Given the description of an element on the screen output the (x, y) to click on. 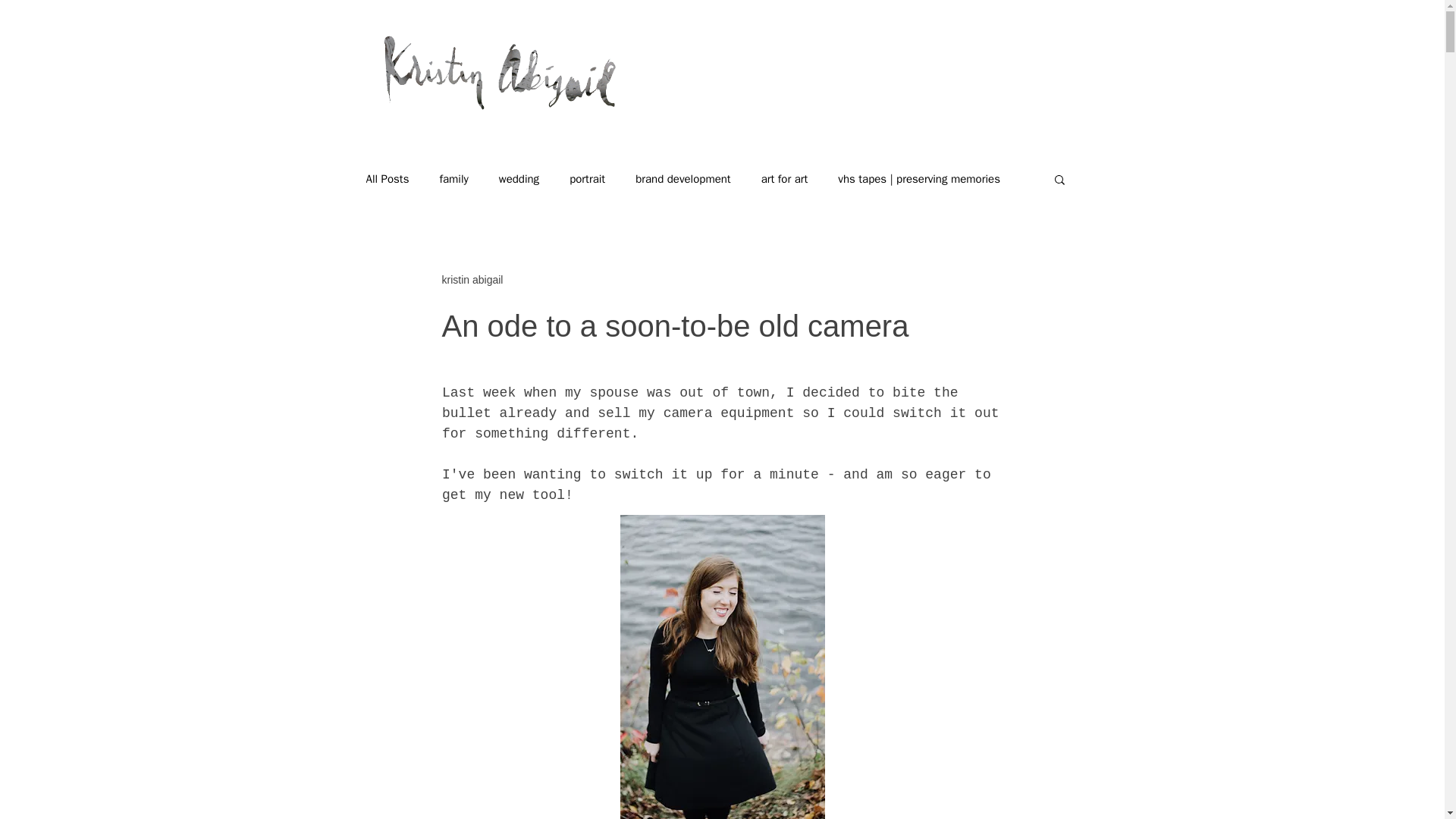
family (453, 178)
kristin abigail (471, 279)
kristin abigail (471, 279)
All Posts (387, 178)
wedding (518, 178)
brand development (682, 178)
art for art (784, 178)
portrait (587, 178)
